Given the description of an element on the screen output the (x, y) to click on. 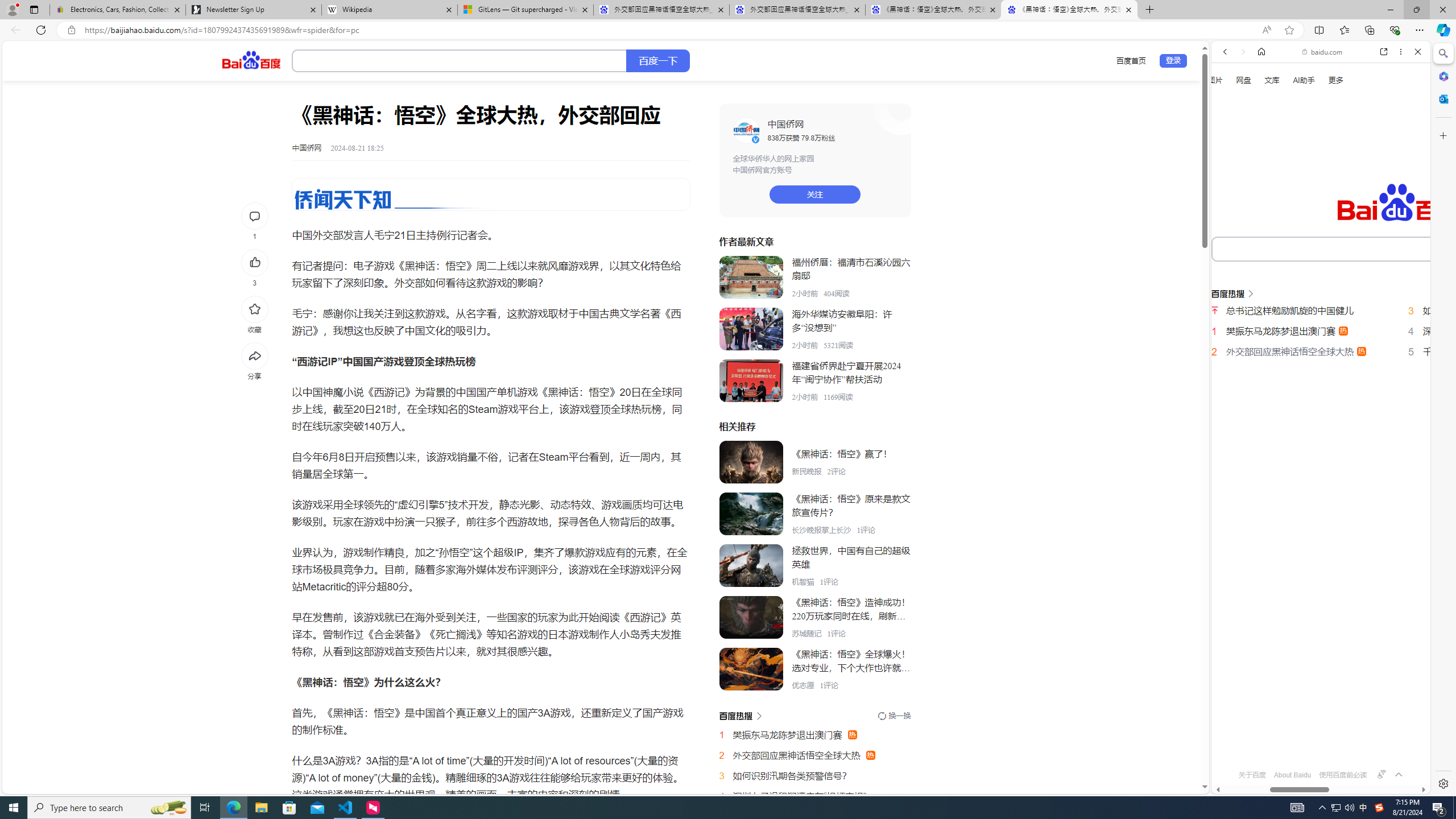
English (Uk) (1320, 357)
Class: _1g4Ex _1i_Oe (491, 194)
About Baidu (1292, 774)
